Given the description of an element on the screen output the (x, y) to click on. 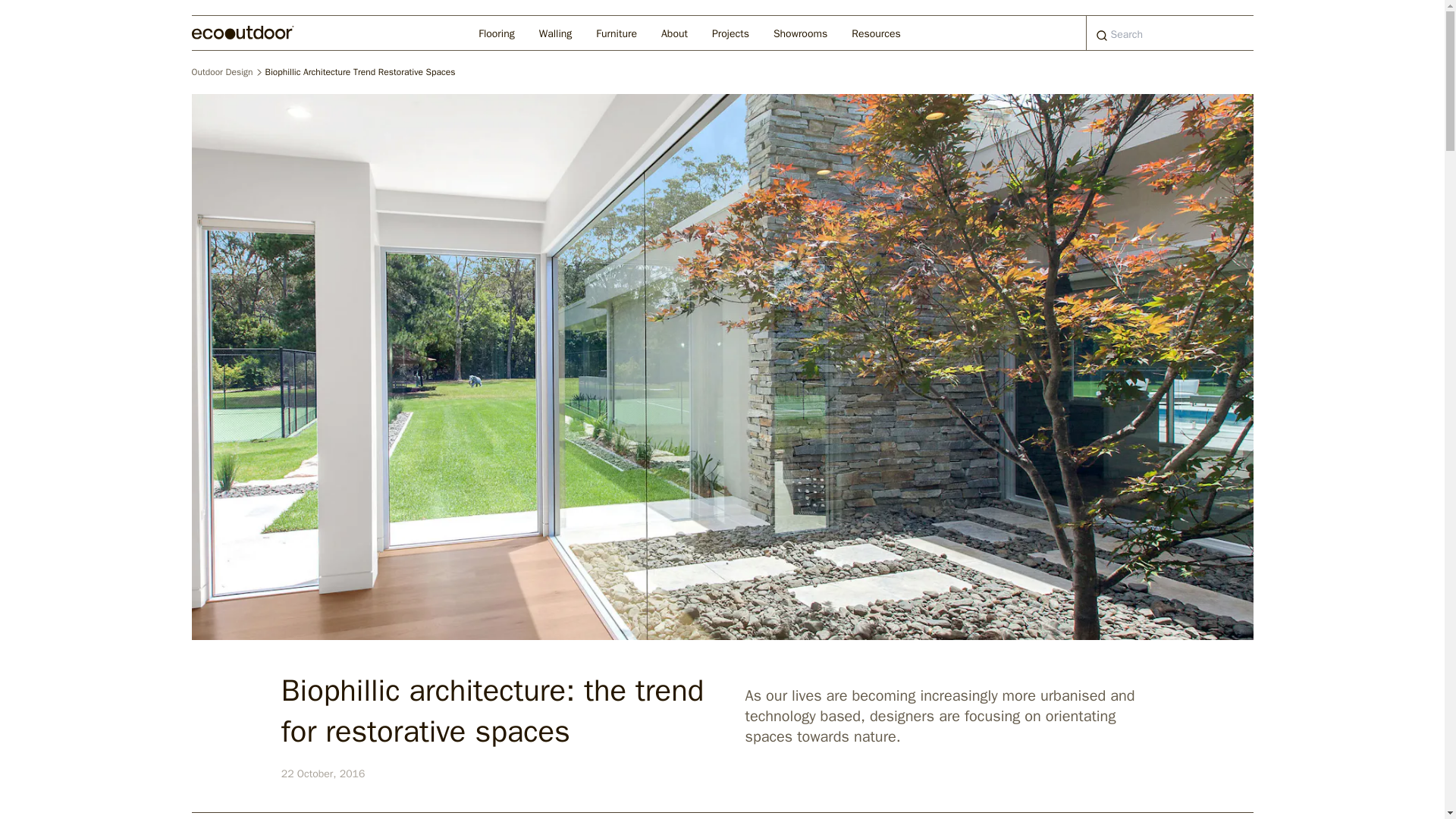
Walling (556, 32)
Flooring (496, 32)
Submit (1101, 37)
Furniture (616, 32)
Eco Outdoor (242, 32)
